Given the description of an element on the screen output the (x, y) to click on. 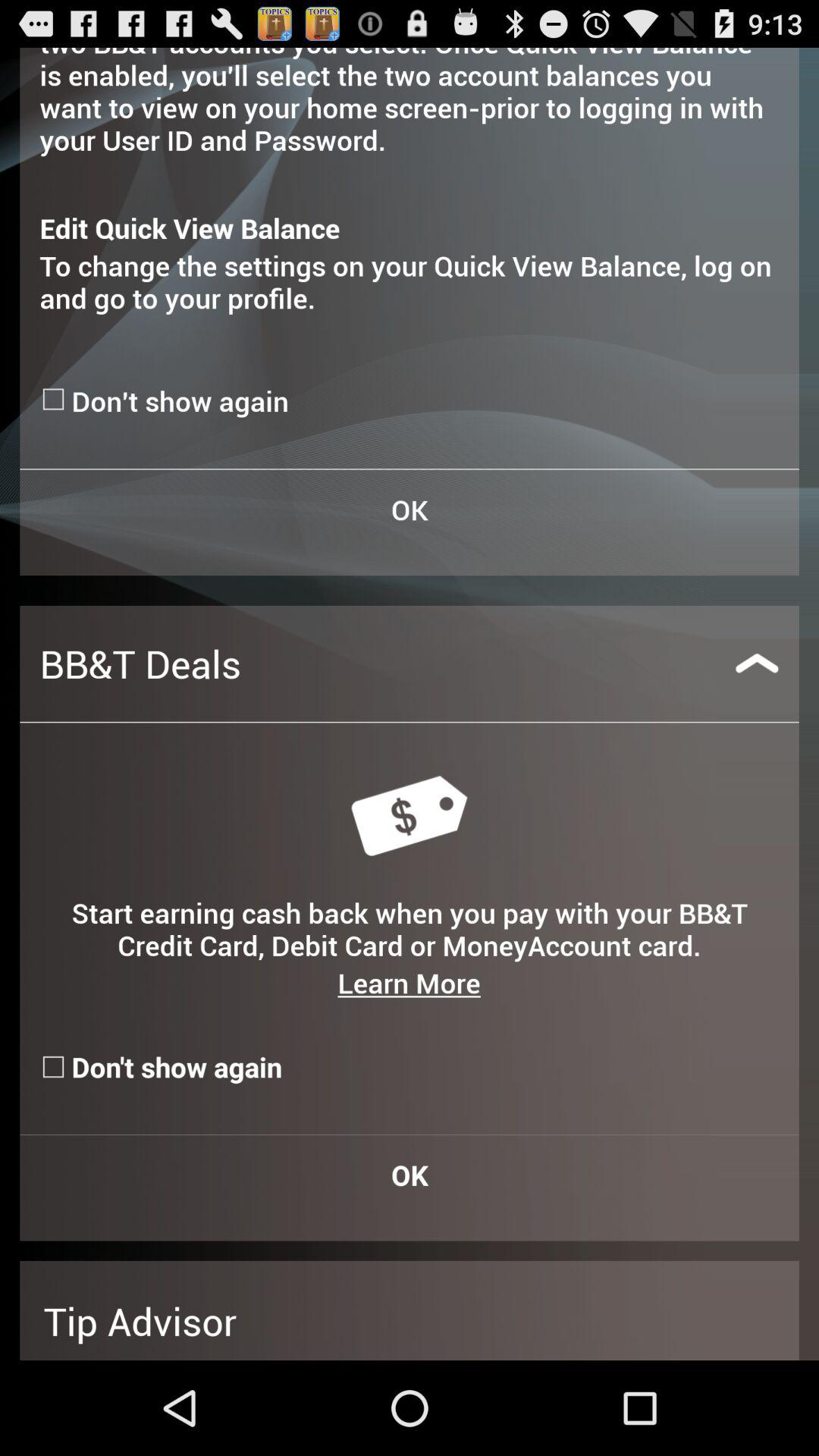
check box for do n't show again (55, 398)
